Given the description of an element on the screen output the (x, y) to click on. 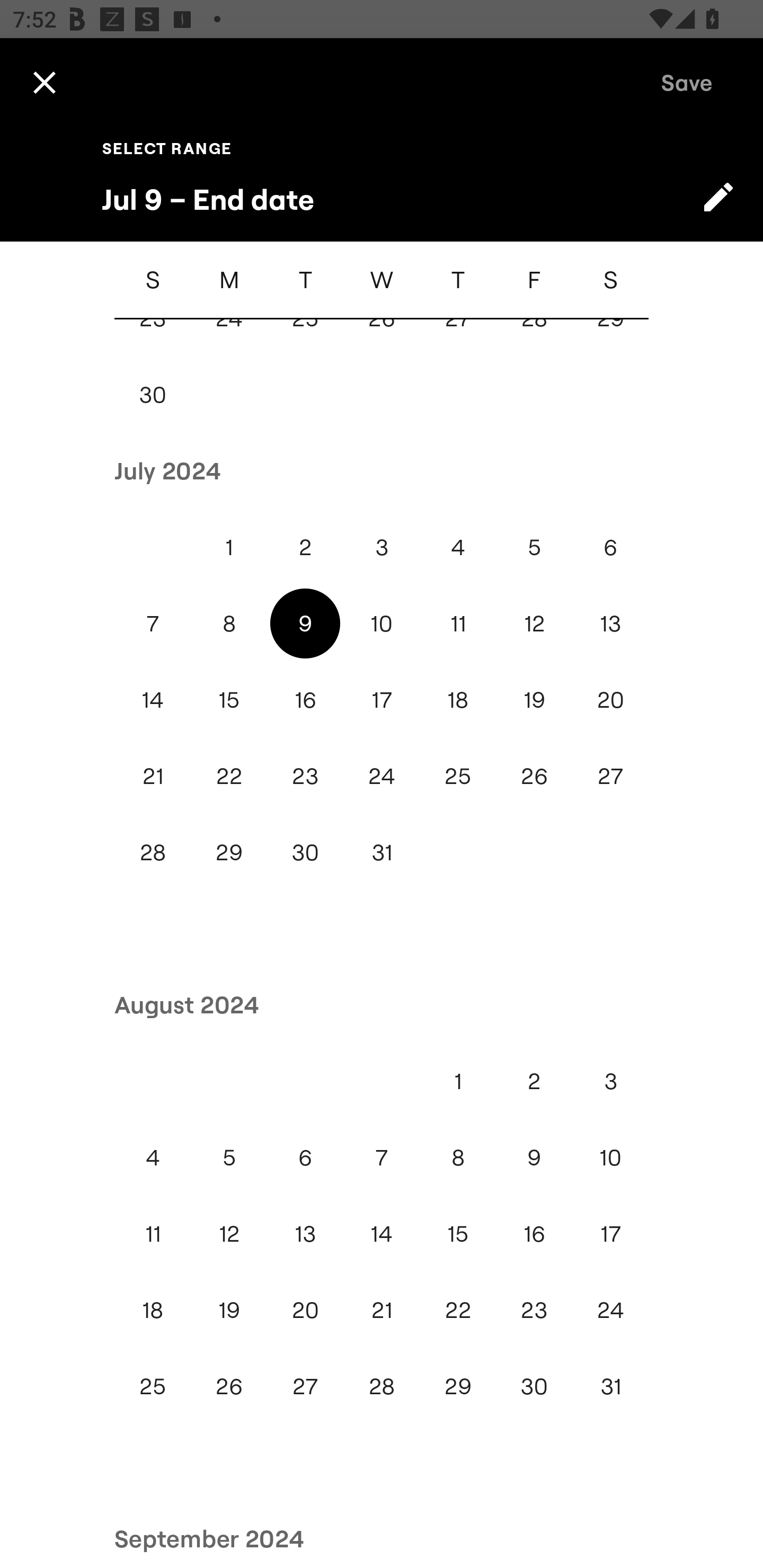
Cancel (44, 81)
Save (686, 81)
Switch to text input mode (718, 196)
30 Sun, Jun 30 (152, 393)
1 Mon, Jul 1 (228, 546)
2 Tue, Jul 2 (305, 546)
3 Wed, Jul 3 (381, 546)
4 Thu, Jul 4 (457, 546)
5 Fri, Jul 5 (533, 546)
6 Sat, Jul 6 (610, 546)
7 Sun, Jul 7 (152, 622)
8 Mon, Jul 8 (228, 622)
9 Tue, Jul 9 (305, 622)
10 Wed, Jul 10 (381, 622)
11 Thu, Jul 11 (457, 622)
12 Fri, Jul 12 (533, 622)
13 Sat, Jul 13 (610, 622)
14 Sun, Jul 14 (152, 699)
15 Mon, Jul 15 (228, 699)
16 Tue, Jul 16 (305, 699)
17 Wed, Jul 17 (381, 699)
18 Thu, Jul 18 (457, 699)
19 Fri, Jul 19 (533, 699)
20 Sat, Jul 20 (610, 699)
21 Sun, Jul 21 (152, 775)
22 Mon, Jul 22 (228, 775)
23 Tue, Jul 23 (305, 775)
24 Wed, Jul 24 (381, 775)
25 Thu, Jul 25 (457, 775)
26 Fri, Jul 26 (533, 775)
27 Sat, Jul 27 (610, 775)
28 Sun, Jul 28 (152, 851)
29 Mon, Jul 29 (228, 851)
30 Tue, Jul 30 (305, 851)
31 Wed, Jul 31 (381, 851)
1 Thu, Aug 1 (457, 1080)
2 Fri, Aug 2 (533, 1080)
3 Sat, Aug 3 (610, 1080)
4 Sun, Aug 4 (152, 1156)
5 Mon, Aug 5 (228, 1156)
6 Tue, Aug 6 (305, 1156)
7 Wed, Aug 7 (381, 1156)
8 Thu, Aug 8 (457, 1156)
9 Fri, Aug 9 (533, 1156)
10 Sat, Aug 10 (610, 1156)
11 Sun, Aug 11 (152, 1232)
12 Mon, Aug 12 (228, 1232)
13 Tue, Aug 13 (305, 1232)
14 Wed, Aug 14 (381, 1232)
15 Thu, Aug 15 (457, 1232)
16 Fri, Aug 16 (533, 1232)
17 Sat, Aug 17 (610, 1232)
18 Sun, Aug 18 (152, 1309)
19 Mon, Aug 19 (228, 1309)
20 Tue, Aug 20 (305, 1309)
21 Wed, Aug 21 (381, 1309)
22 Thu, Aug 22 (457, 1309)
23 Fri, Aug 23 (533, 1309)
24 Sat, Aug 24 (610, 1309)
25 Sun, Aug 25 (152, 1385)
26 Mon, Aug 26 (228, 1385)
27 Tue, Aug 27 (305, 1385)
28 Wed, Aug 28 (381, 1385)
29 Thu, Aug 29 (457, 1385)
30 Fri, Aug 30 (533, 1385)
31 Sat, Aug 31 (610, 1385)
